Given the description of an element on the screen output the (x, y) to click on. 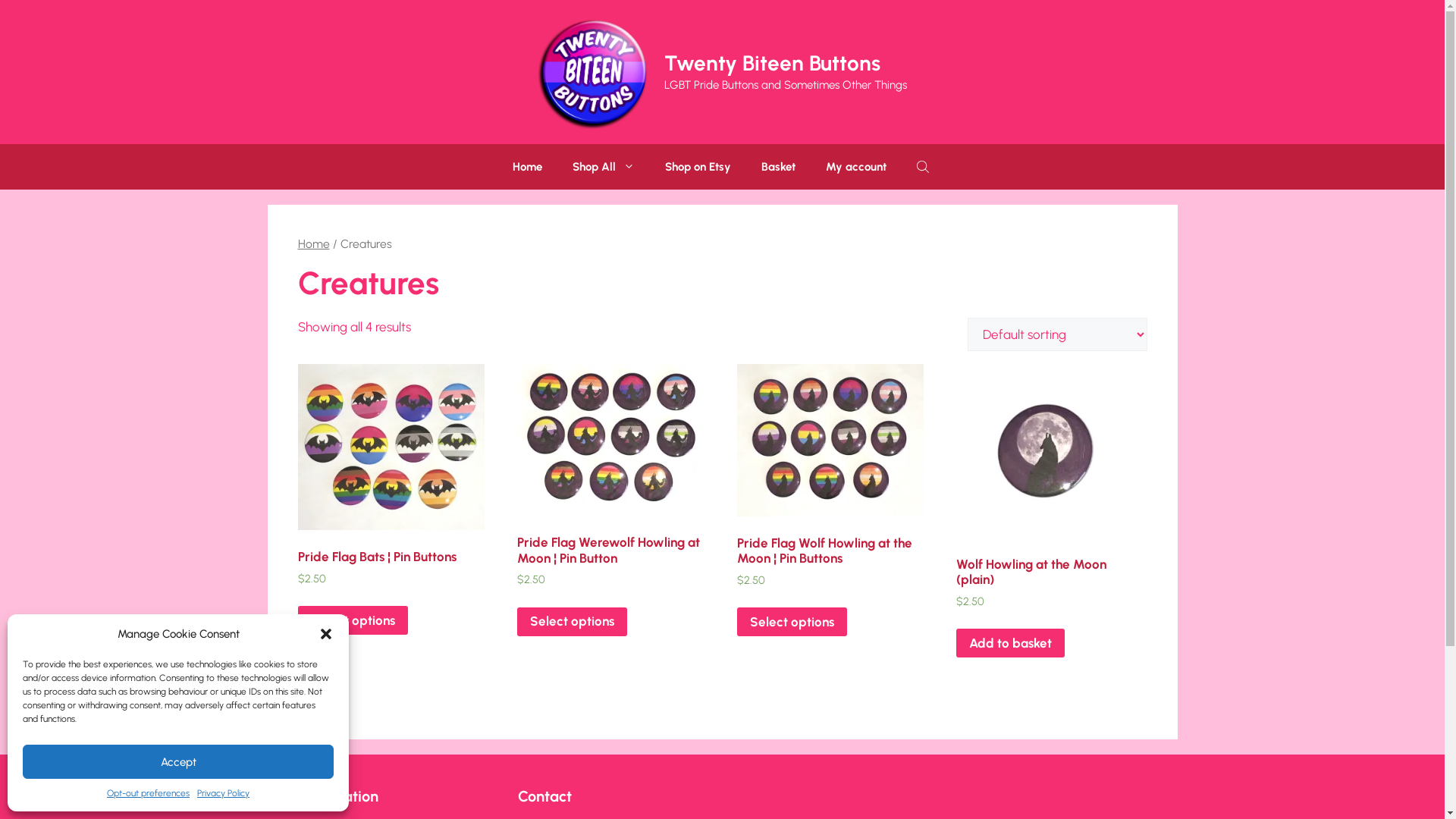
Twenty Biteen Buttons Element type: text (772, 62)
Basket Element type: text (778, 166)
Home Element type: text (313, 243)
Select options Element type: text (572, 621)
Wolf Howling at the Moon (plain)
$2.50 Element type: text (1049, 506)
Add to basket Element type: text (1010, 642)
Accept Element type: text (177, 761)
Privacy Policy Element type: text (223, 793)
Select options Element type: text (792, 621)
Home Element type: text (527, 166)
Select options Element type: text (352, 619)
Shop All Element type: text (603, 166)
Opt-out preferences Element type: text (147, 793)
My account Element type: text (855, 166)
Shop on Etsy Element type: text (697, 166)
